Given the description of an element on the screen output the (x, y) to click on. 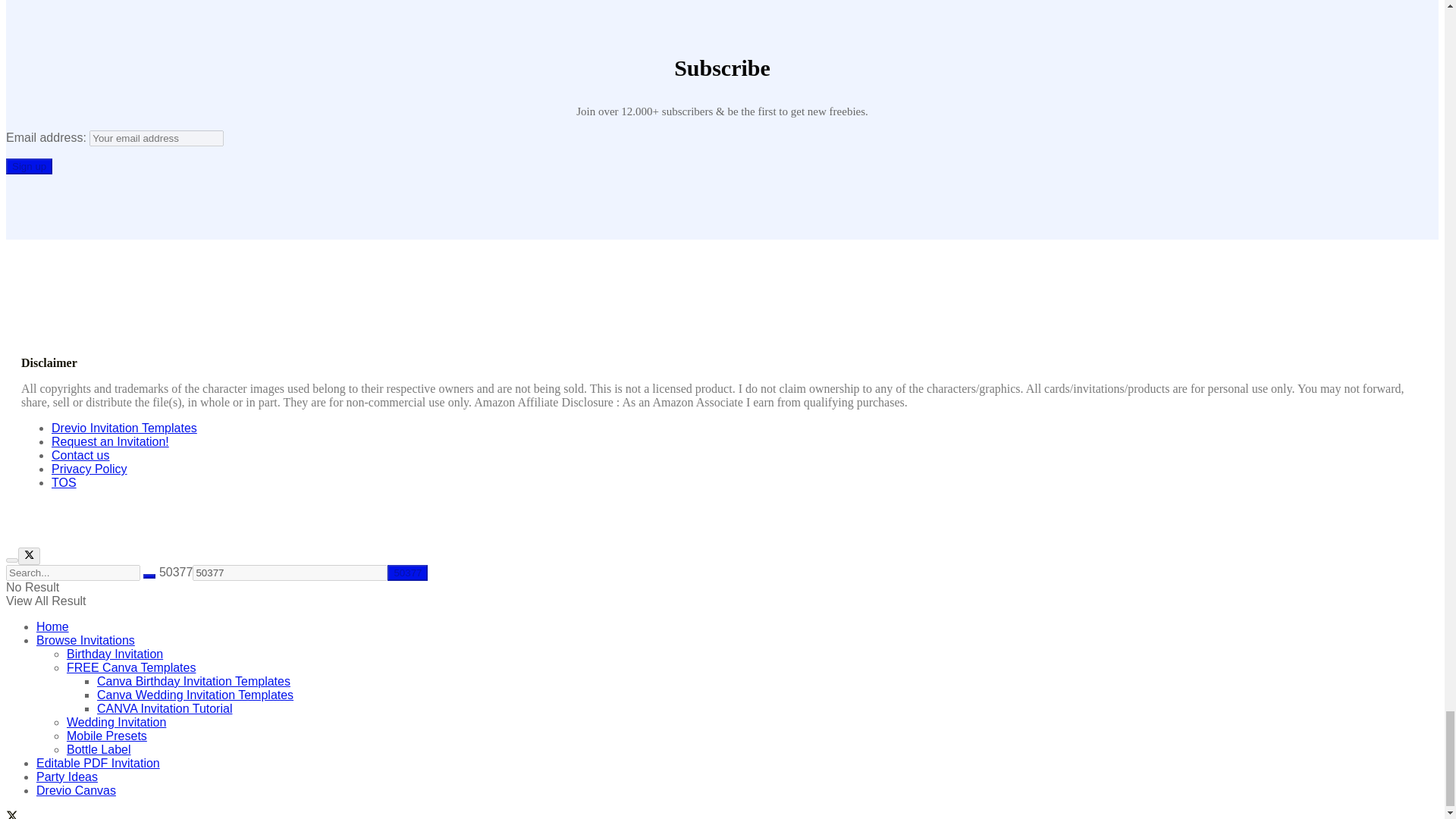
50377 (289, 572)
Sign up (28, 166)
50377 (289, 572)
50377 (407, 572)
50377 (407, 572)
